Given the description of an element on the screen output the (x, y) to click on. 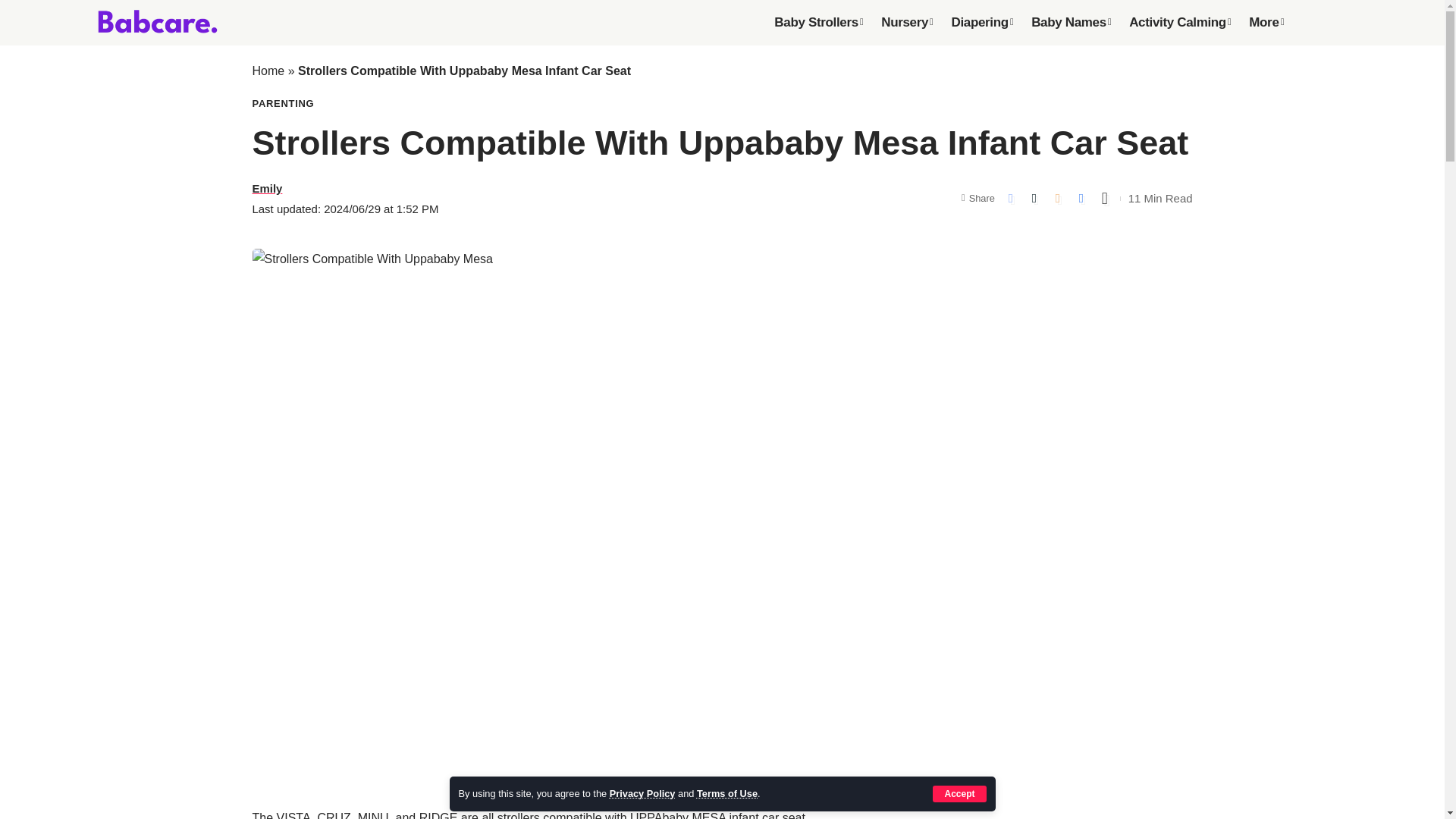
Nursery (907, 22)
Terms of Use (727, 793)
Activity Calming (1179, 22)
Privacy Policy (642, 793)
Diapering (982, 22)
Accept (959, 793)
More (1266, 22)
Baby Names (1070, 22)
Baby Strollers (818, 22)
